Given the description of an element on the screen output the (x, y) to click on. 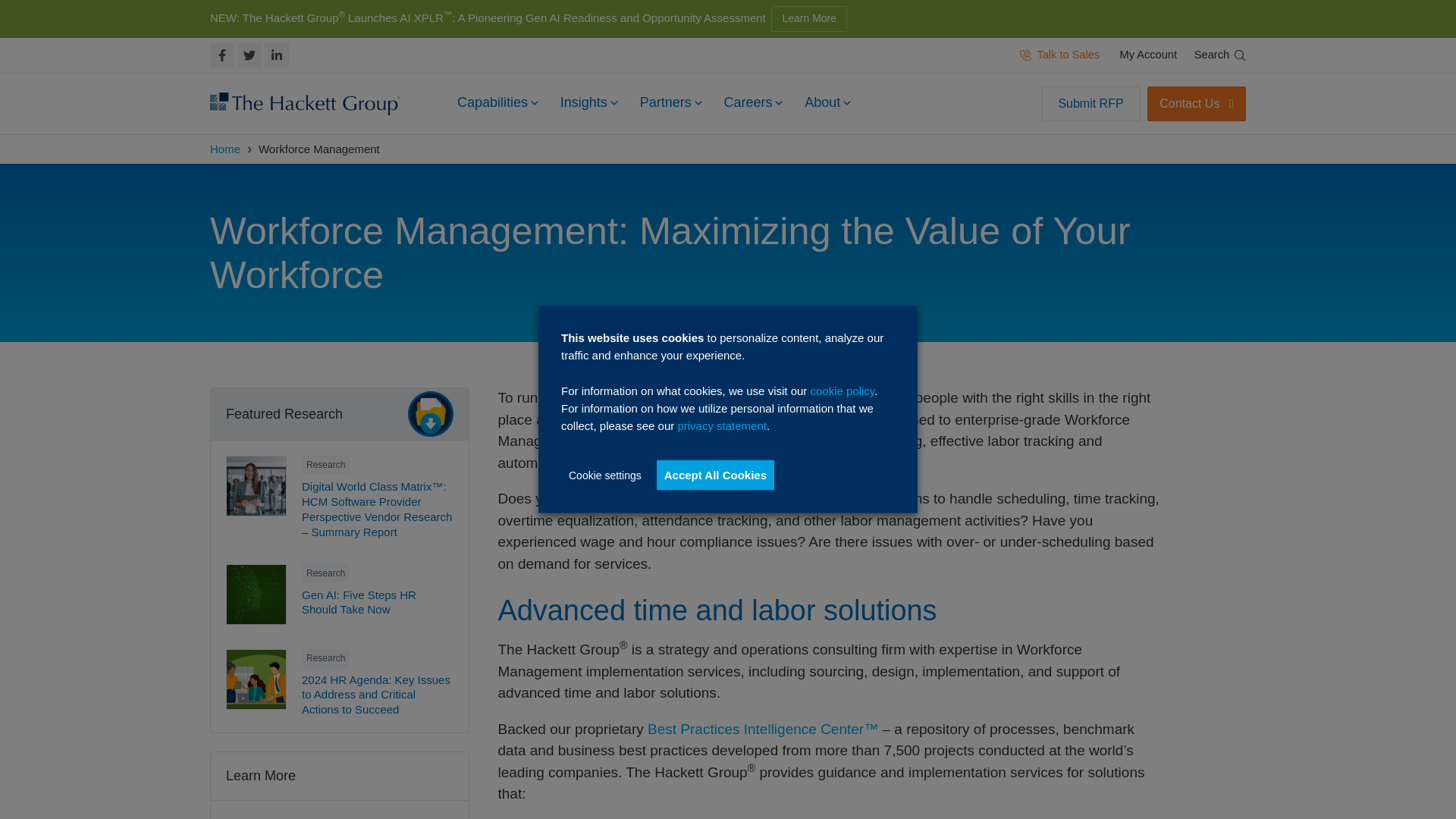
Capabilities (498, 104)
menu-item-login (1147, 55)
My Account (1147, 55)
Search (1219, 54)
Talk to Sales (1059, 55)
Learn More (809, 18)
